Given the description of an element on the screen output the (x, y) to click on. 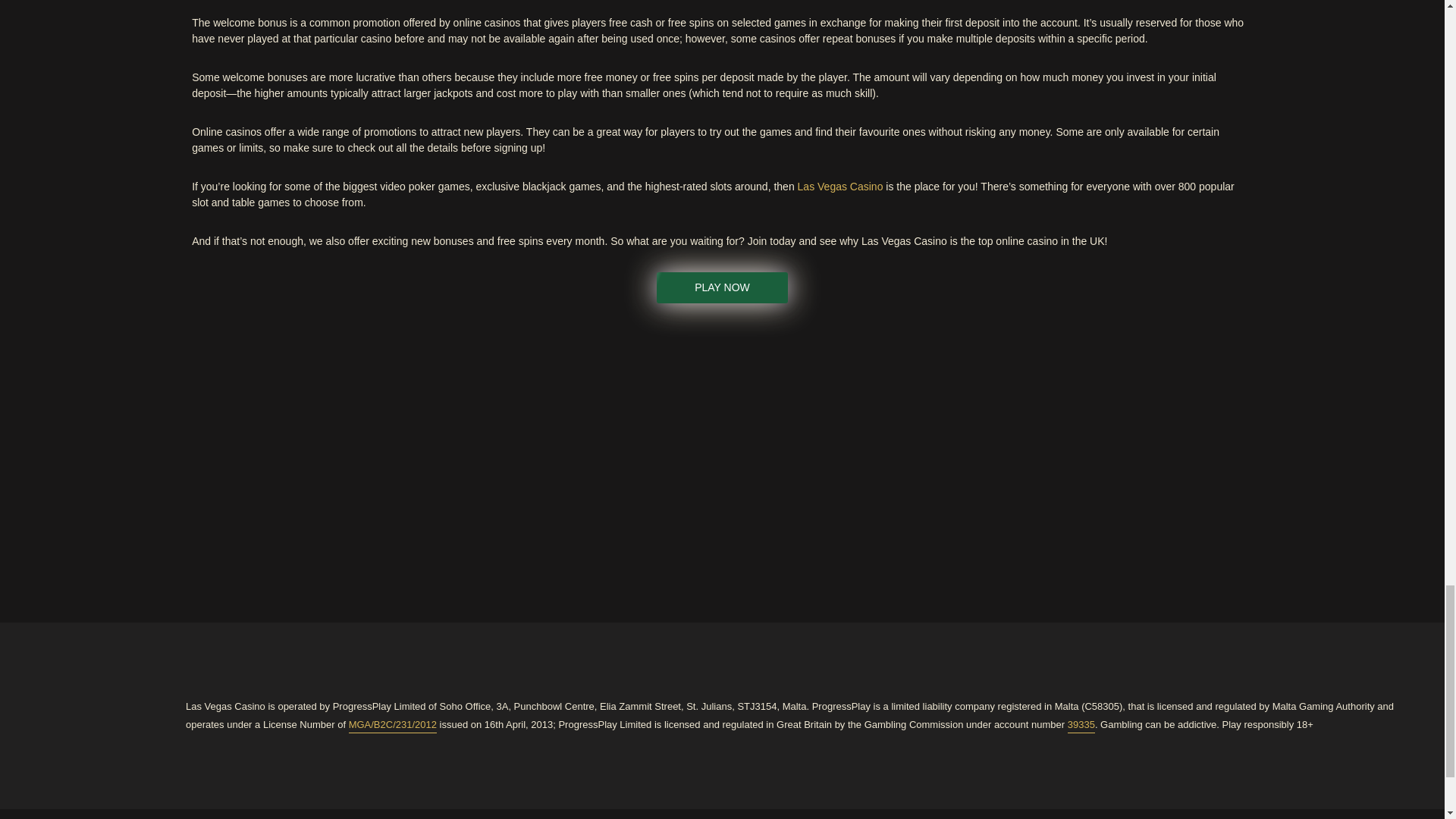
client logos (205, 457)
client logos (463, 458)
client logos (335, 457)
client logos (850, 457)
39335 (1080, 724)
client logos (979, 457)
Las Vegas Casino (840, 186)
client logos (721, 457)
PLAY NOW (721, 287)
client logos (1108, 458)
